Given the description of an element on the screen output the (x, y) to click on. 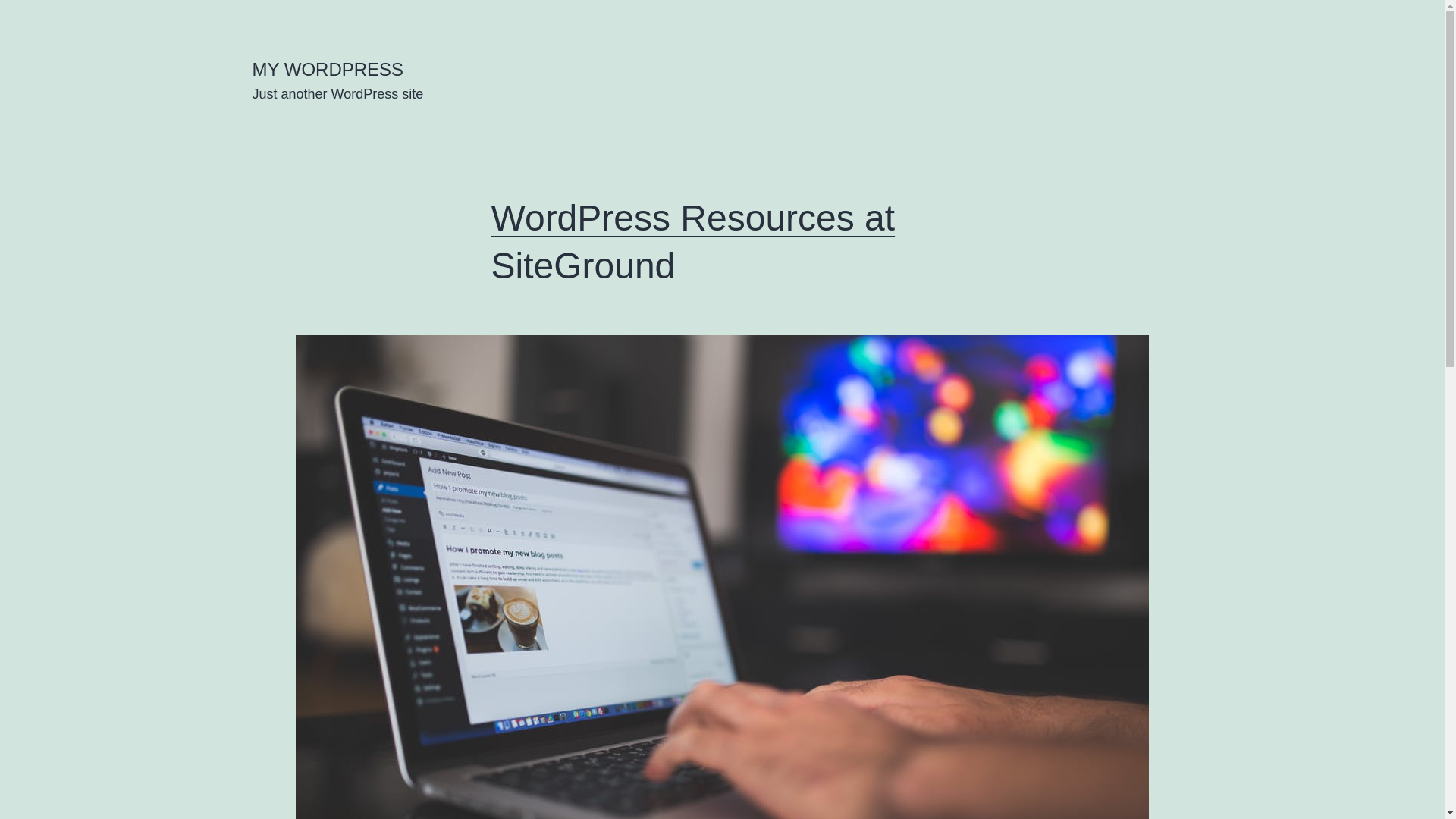
WordPress Resources at SiteGround Element type: text (693, 241)
